Given the description of an element on the screen output the (x, y) to click on. 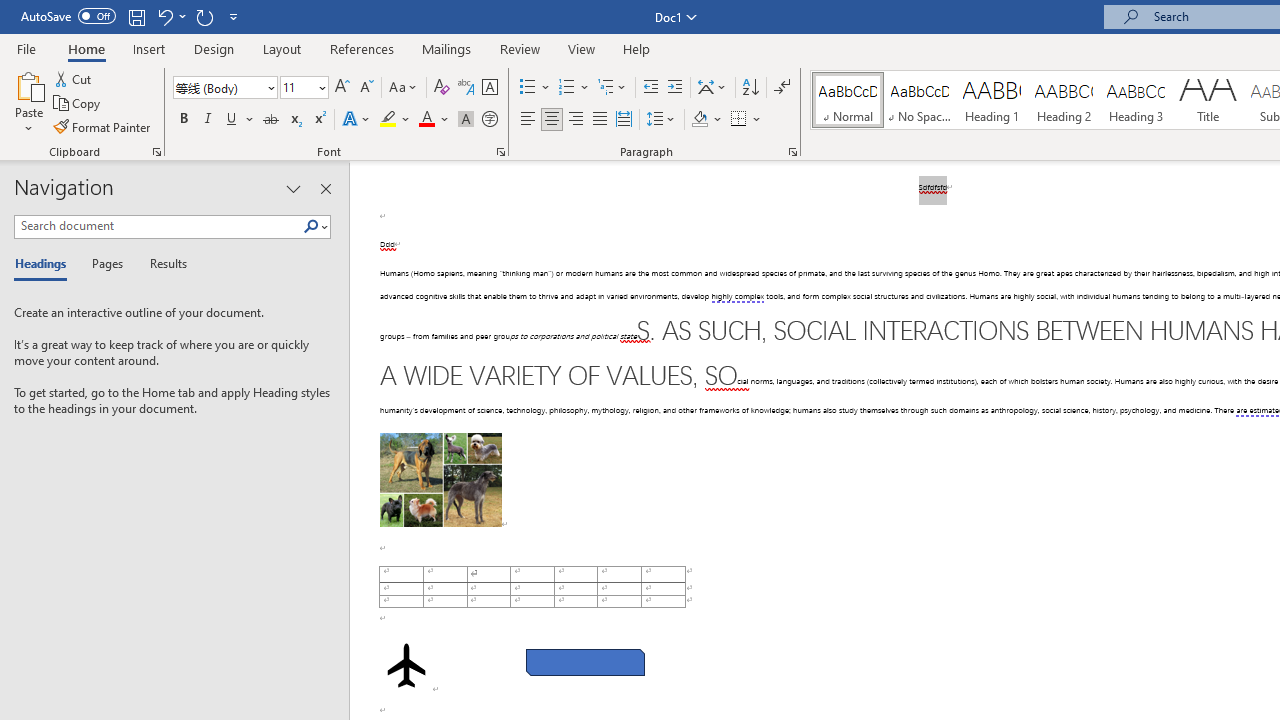
Repeat Paragraph Alignment (204, 15)
